Given the description of an element on the screen output the (x, y) to click on. 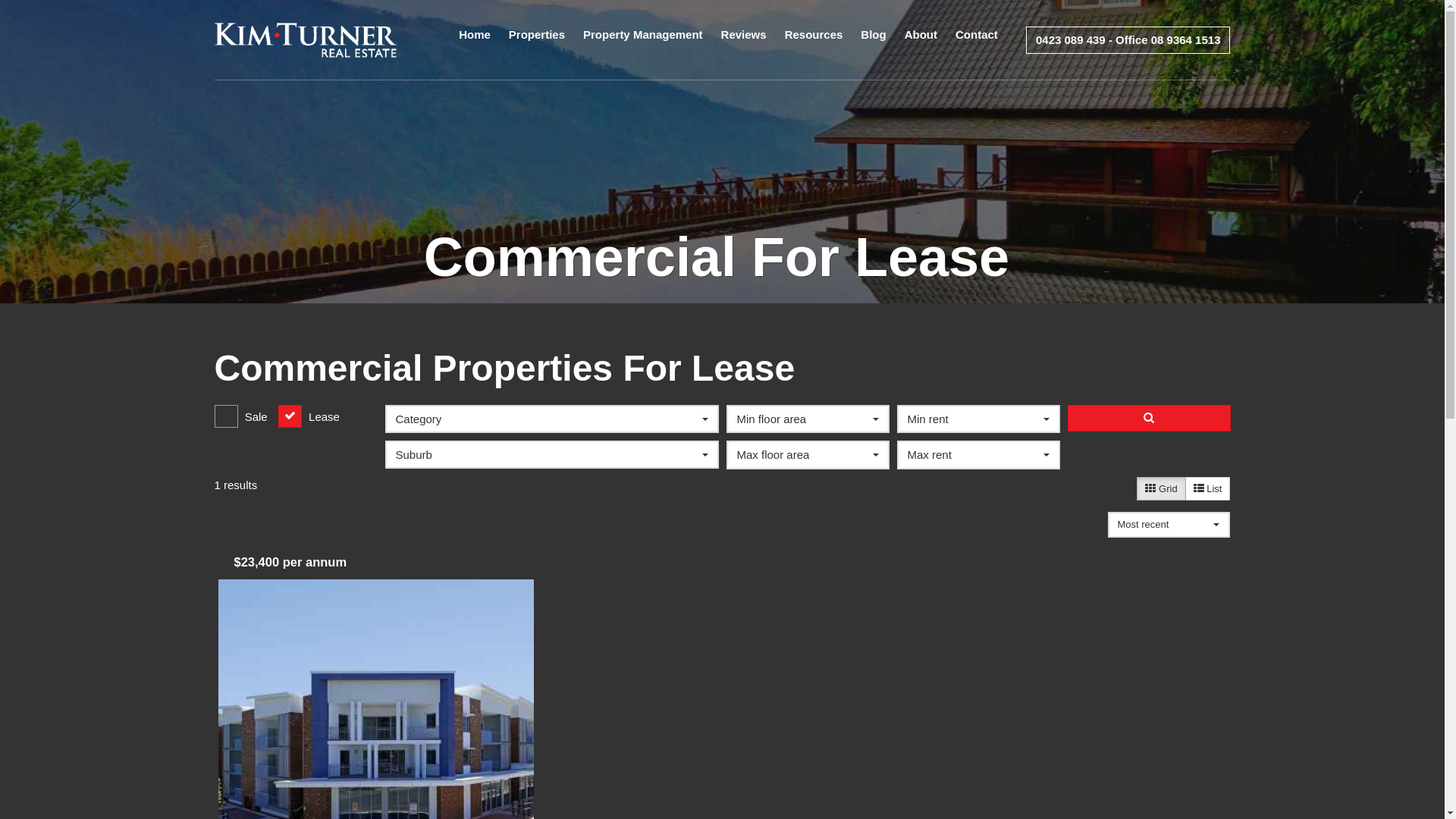
Category
  Element type: text (551, 418)
Resources Element type: text (813, 39)
Most recent
  Element type: text (1168, 524)
Contact Element type: text (976, 39)
0423 089 439 - Office 08 9364 1513 Element type: text (1128, 39)
Properties Element type: text (536, 39)
Property Management Element type: text (643, 39)
Suburb
  Element type: text (551, 454)
Max rent
  Element type: text (977, 454)
About Element type: text (920, 39)
Min floor area
  Element type: text (807, 418)
Min rent
  Element type: text (977, 418)
Home Element type: text (474, 39)
Blog Element type: text (872, 39)
Sale Element type: text (239, 416)
Lease Element type: text (308, 416)
Max floor area
  Element type: text (807, 454)
Reviews Element type: text (743, 39)
Kim Turner Real Estate Element type: hover (304, 38)
